Given the description of an element on the screen output the (x, y) to click on. 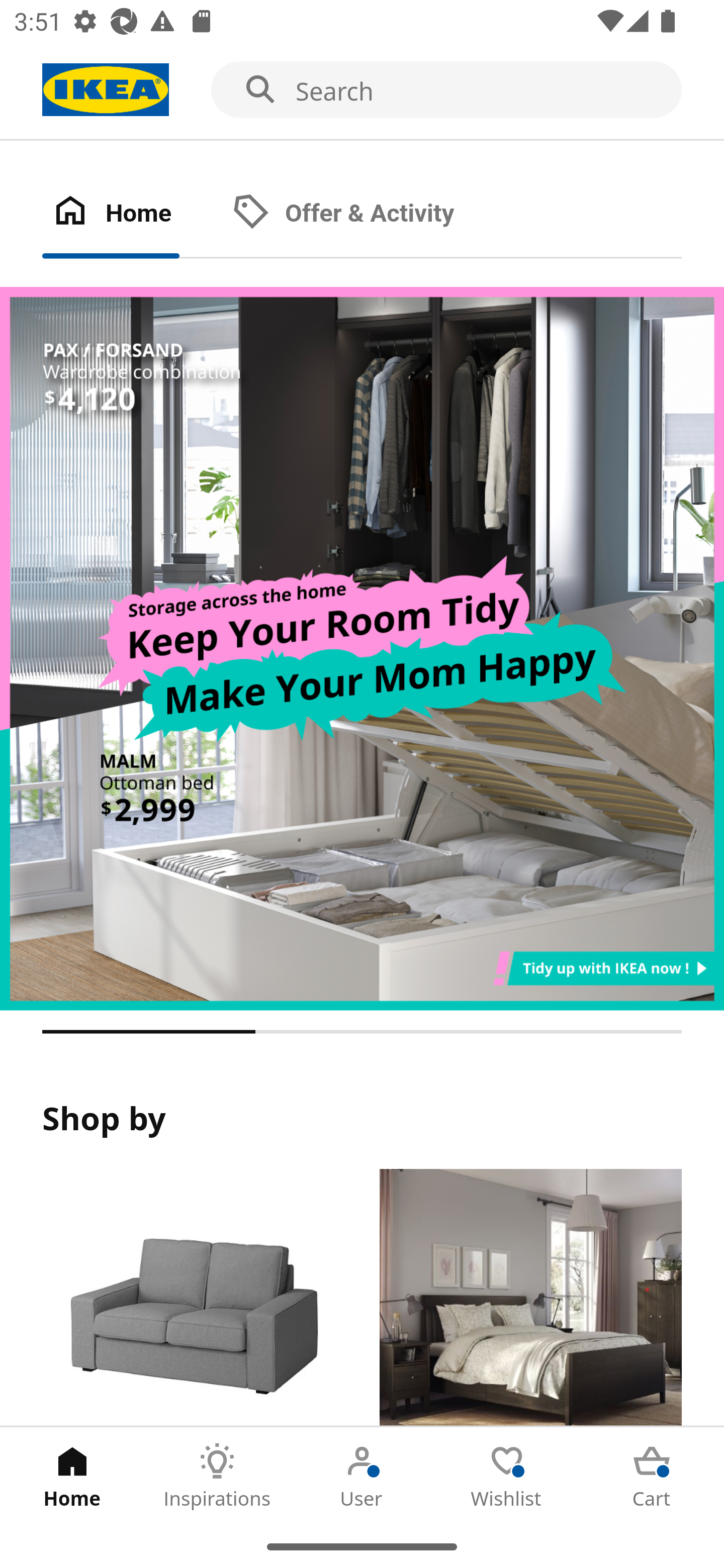
Search (361, 90)
Home
Tab 1 of 2 (131, 213)
Offer & Activity
Tab 2 of 2 (363, 213)
Products (192, 1297)
Rooms (530, 1297)
Home
Tab 1 of 5 (72, 1476)
Inspirations
Tab 2 of 5 (216, 1476)
User
Tab 3 of 5 (361, 1476)
Wishlist
Tab 4 of 5 (506, 1476)
Cart
Tab 5 of 5 (651, 1476)
